Given the description of an element on the screen output the (x, y) to click on. 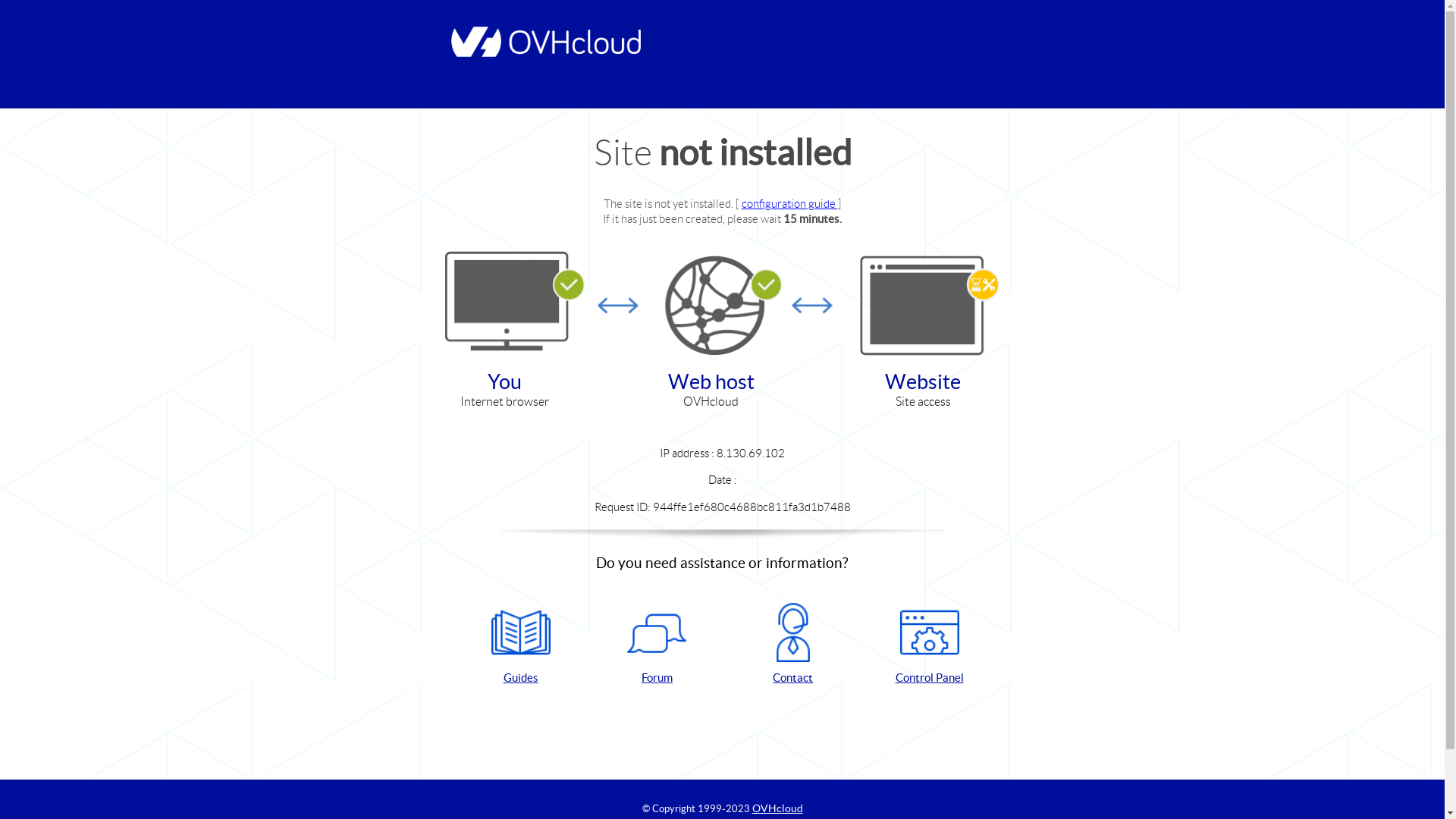
OVHcloud Element type: text (777, 808)
Guides Element type: text (520, 644)
Forum Element type: text (656, 644)
Contact Element type: text (792, 644)
Control Panel Element type: text (929, 644)
configuration guide Element type: text (789, 203)
